Given the description of an element on the screen output the (x, y) to click on. 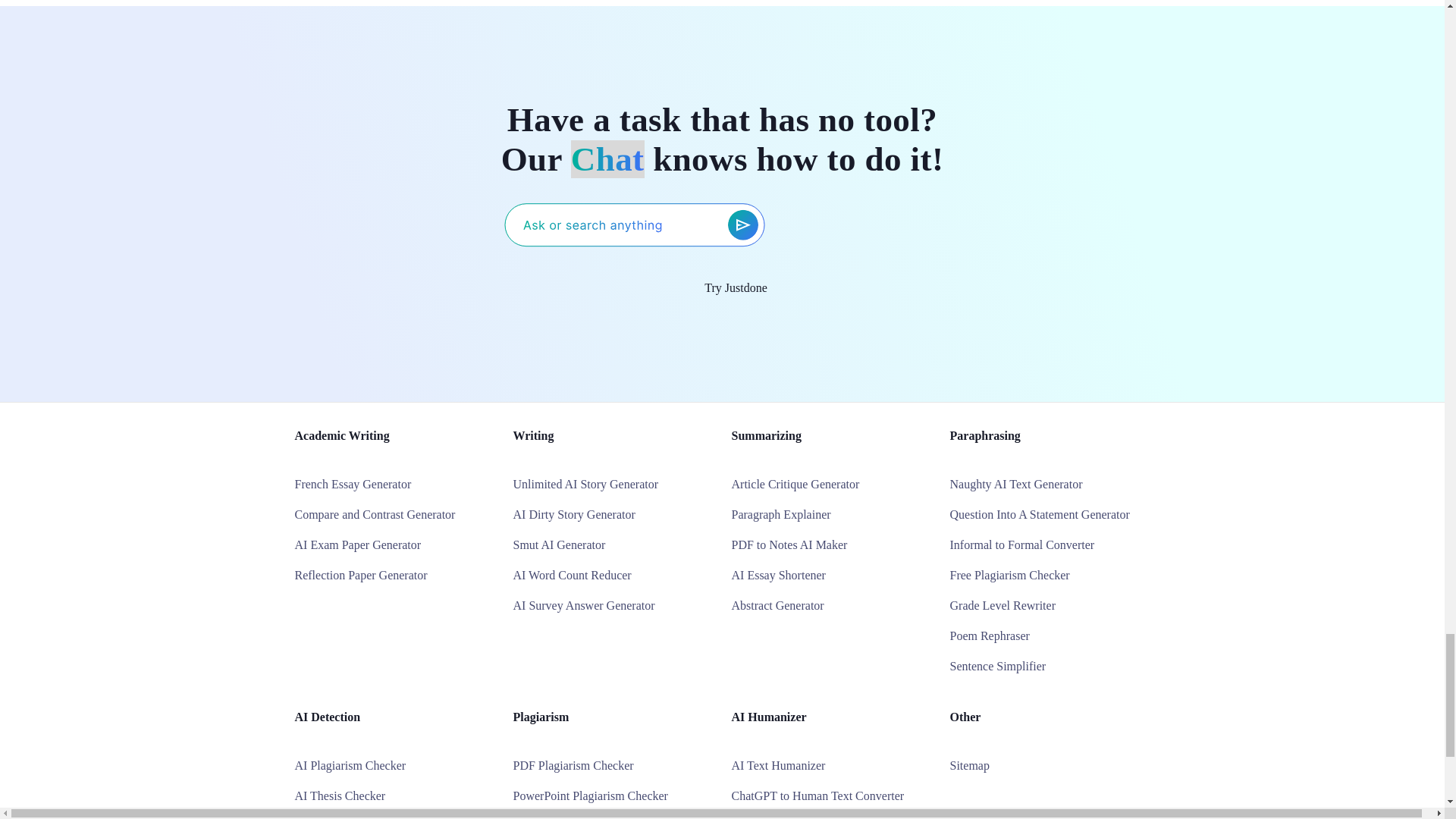
AI Essay Shortener (777, 574)
Compare and Contrast Generator (374, 513)
AI Dirty Story Generator (573, 513)
Abstract Generator (777, 604)
Unlimited AI Story Generator (585, 483)
Reflection Paper Generator (360, 574)
Academic Writing (341, 435)
Try Justdone (721, 287)
AI Word Count Reducer (571, 574)
Smut AI Generator (558, 544)
